Given the description of an element on the screen output the (x, y) to click on. 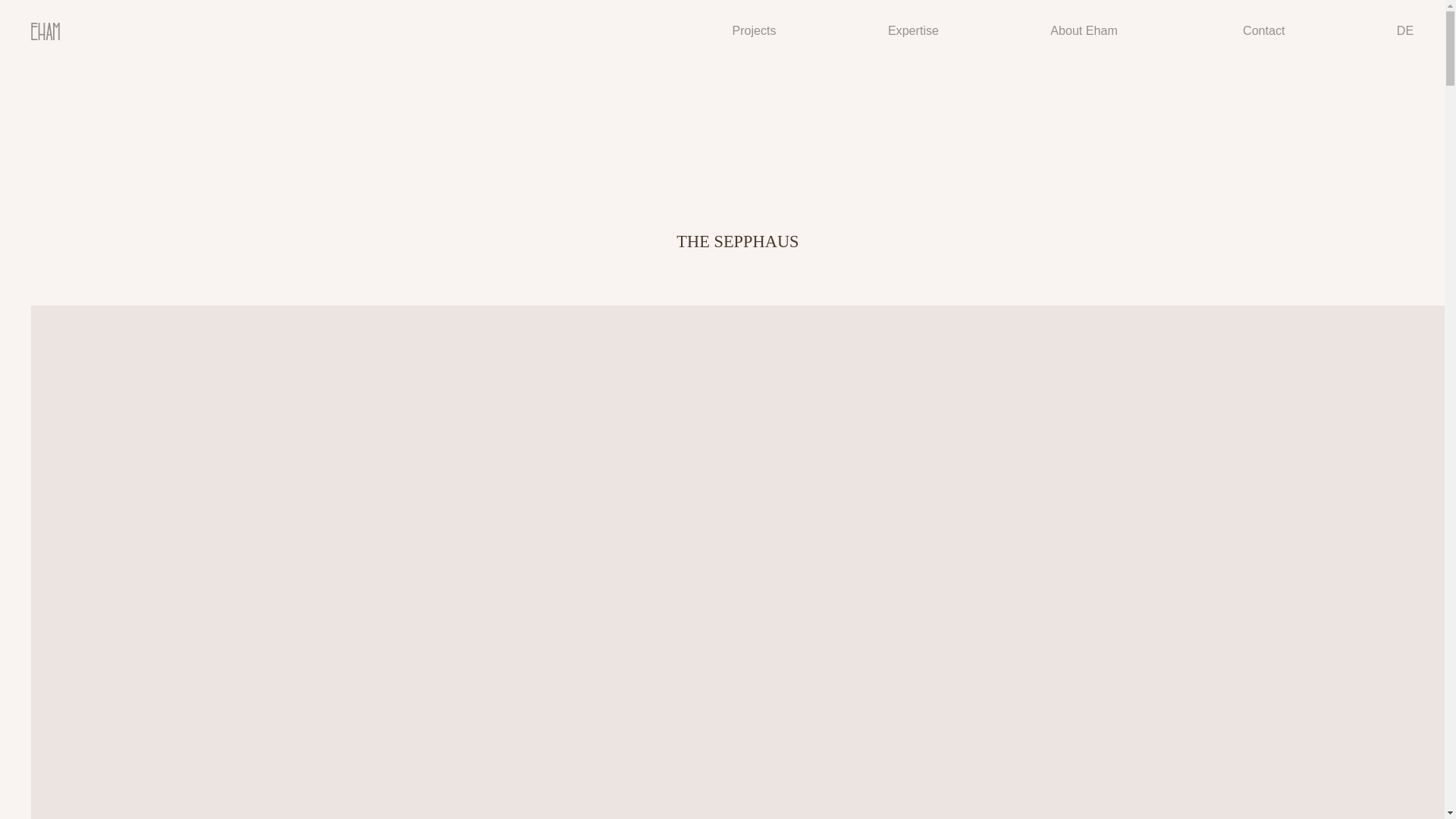
DE (1404, 29)
Projects (754, 29)
About Eham (1083, 29)
Expertise (913, 29)
Contact (1263, 29)
